Given the description of an element on the screen output the (x, y) to click on. 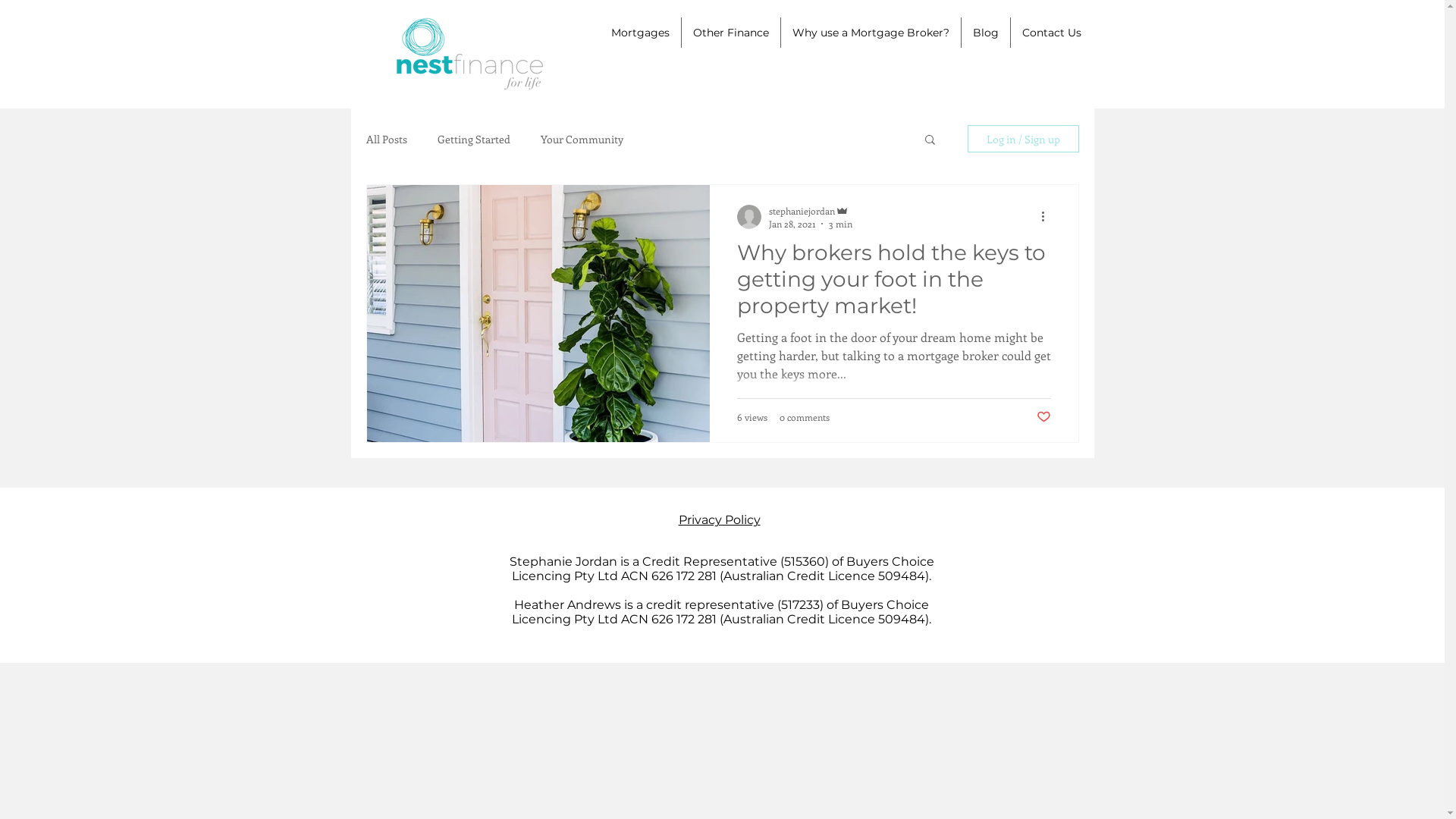
Getting Started Element type: text (472, 138)
All Posts Element type: text (385, 138)
Why use a Mortgage Broker? Element type: text (870, 32)
Privacy Policy Element type: text (718, 519)
Your Community Element type: text (580, 138)
Blog Element type: text (985, 32)
Post not marked as liked Element type: text (1042, 416)
Log in / Sign up Element type: text (1023, 138)
Contact Us Element type: text (1051, 32)
0 comments Element type: text (804, 417)
Clear background Artboard 1_3x.png Element type: hover (467, 54)
